Given the description of an element on the screen output the (x, y) to click on. 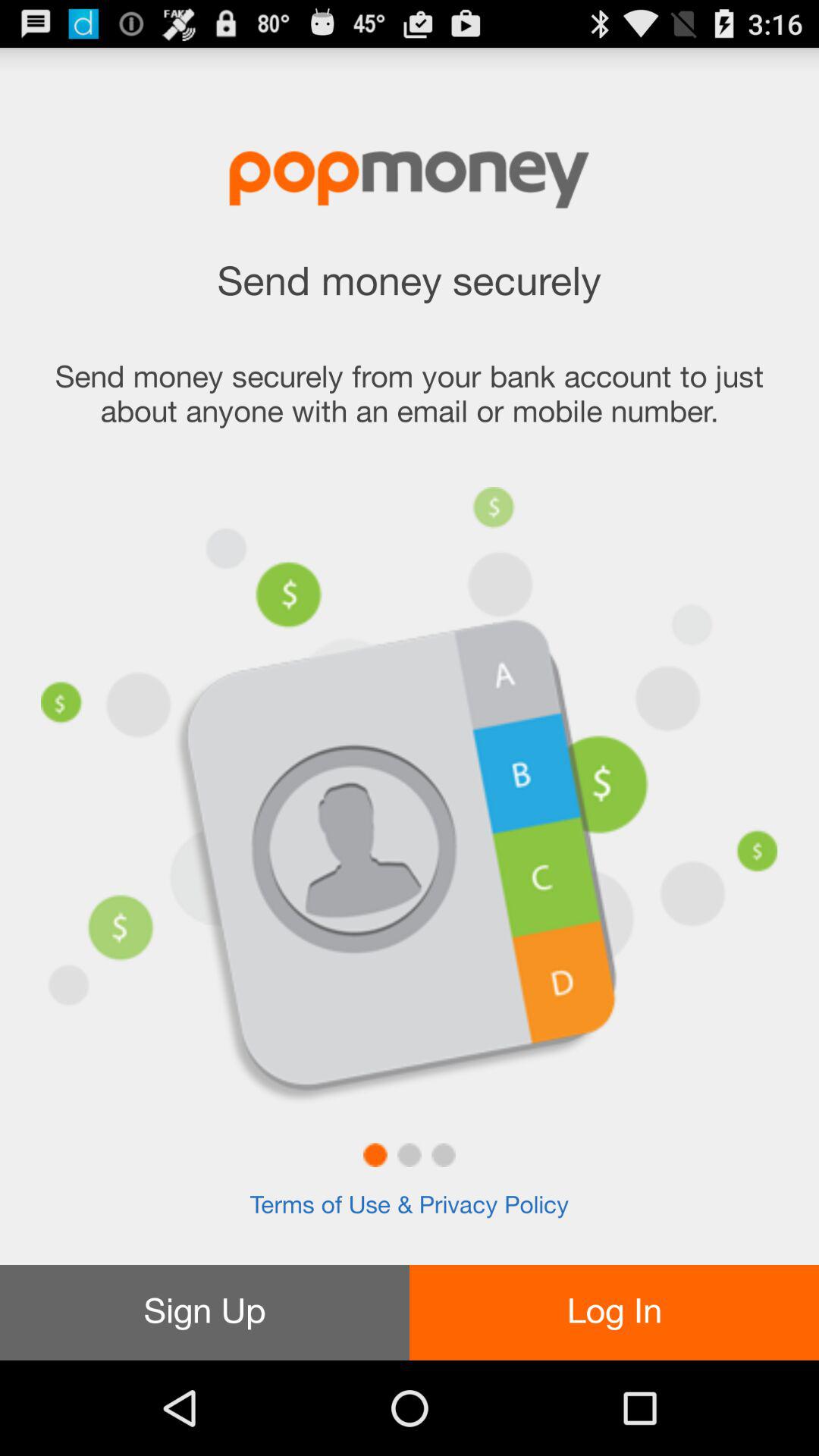
choose the item above the sign up icon (409, 1205)
